Given the description of an element on the screen output the (x, y) to click on. 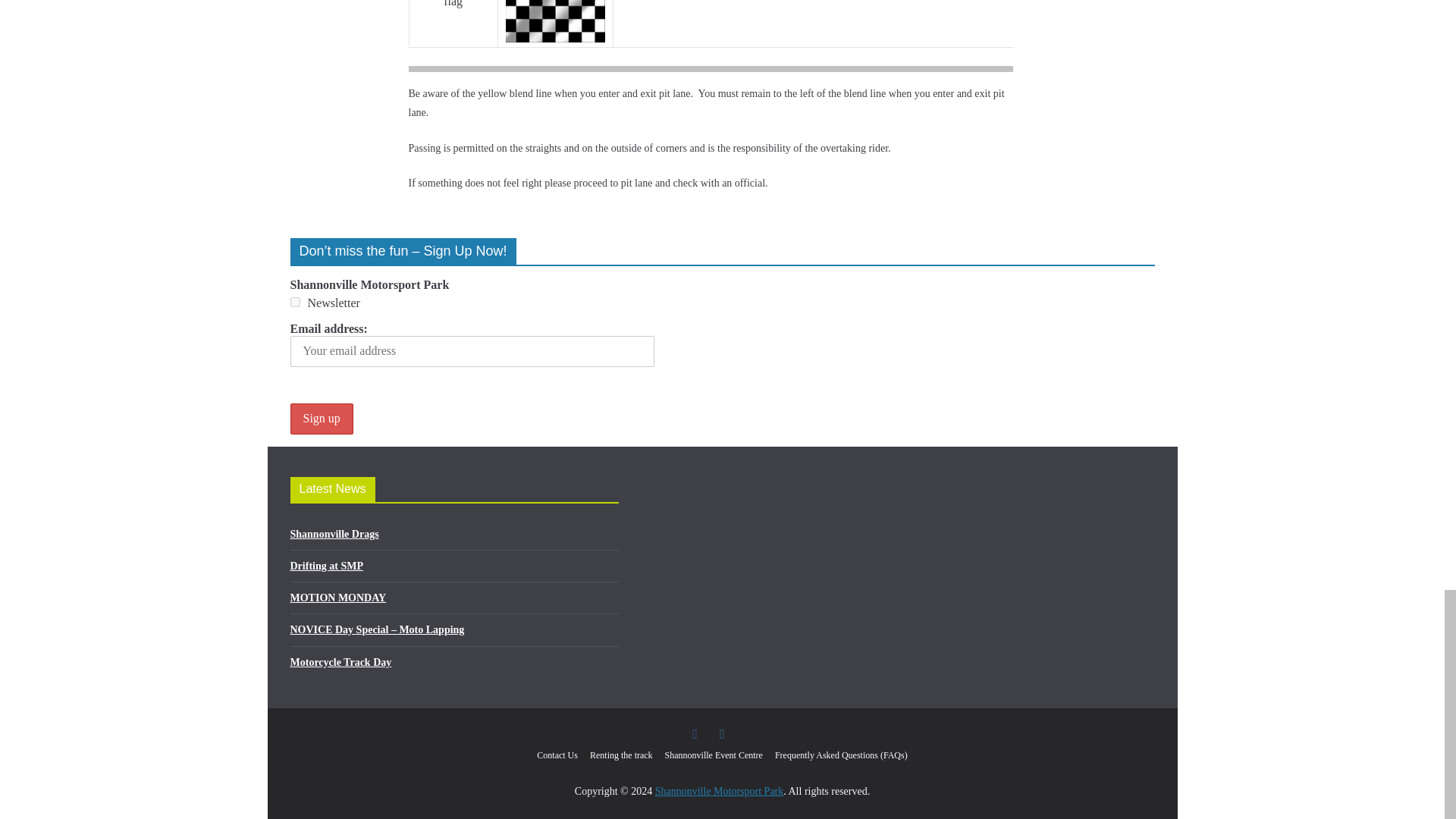
49e73799bc (294, 302)
Sign up (320, 418)
Shannonville Motorsport Park (719, 790)
